Given the description of an element on the screen output the (x, y) to click on. 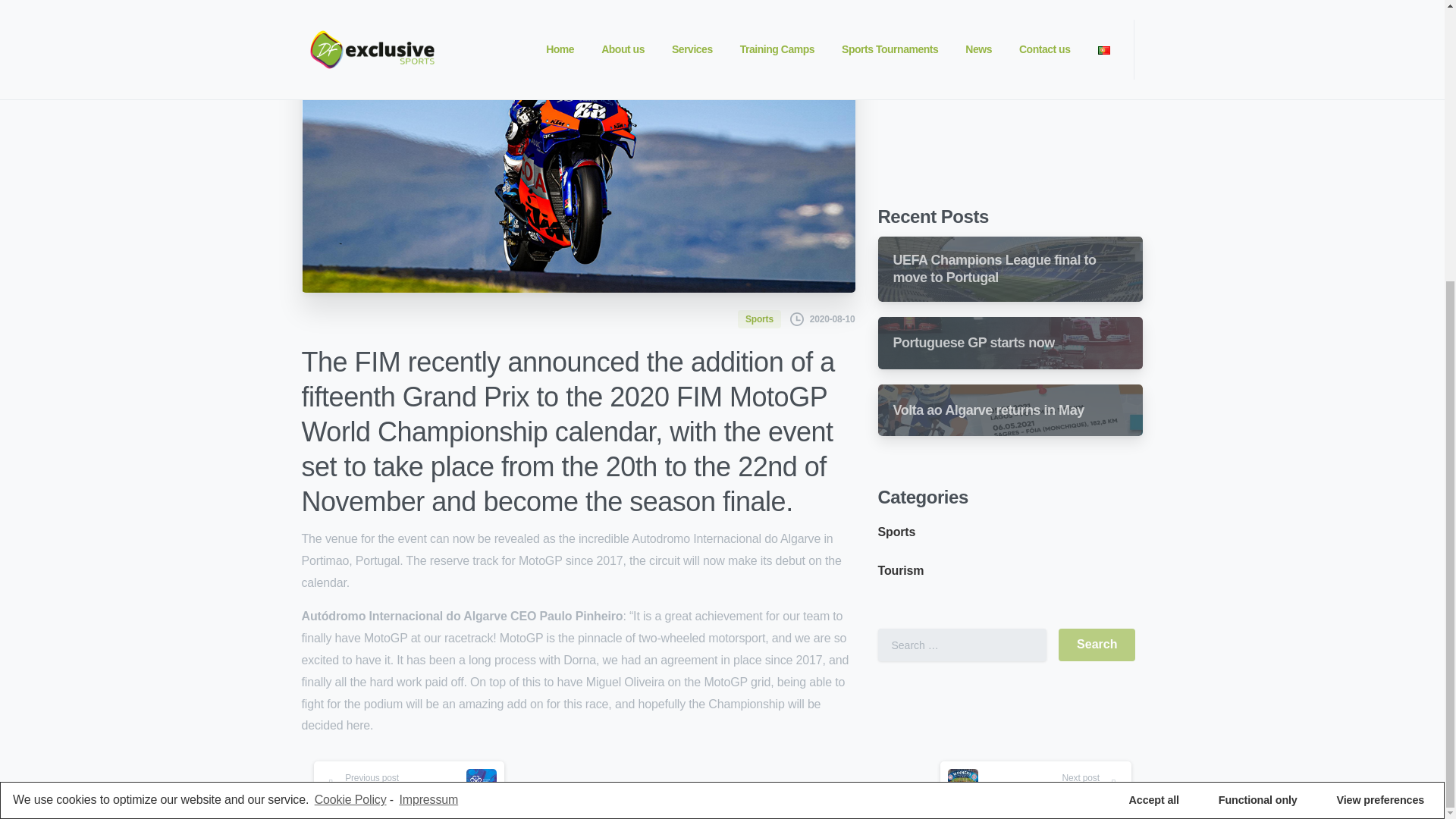
Impressum (427, 380)
Search (1096, 462)
UEFA Champions League final to move to Portugal (1009, 86)
Accept all (1153, 380)
Functional only (1257, 380)
Search (1096, 462)
Portuguese GP starts now (973, 160)
Cookie Policy (350, 380)
UEFA Champions League final to move to Portugal (995, 86)
Sports (896, 350)
Volta ao Algarve returns in May (988, 227)
Tourism (900, 388)
Portuguese GP starts now (1009, 161)
Search (1096, 462)
